Given the description of an element on the screen output the (x, y) to click on. 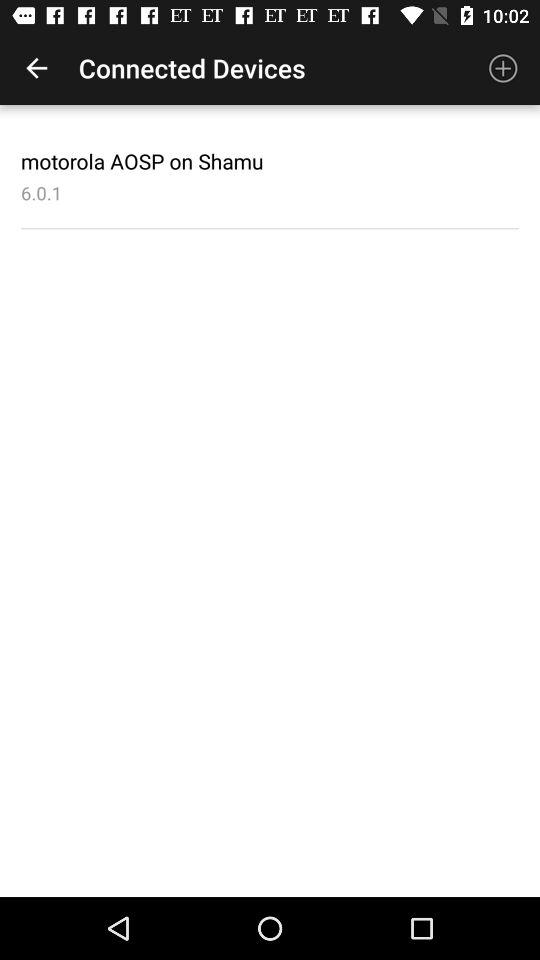
tap item to the right of the connected devices icon (503, 67)
